Given the description of an element on the screen output the (x, y) to click on. 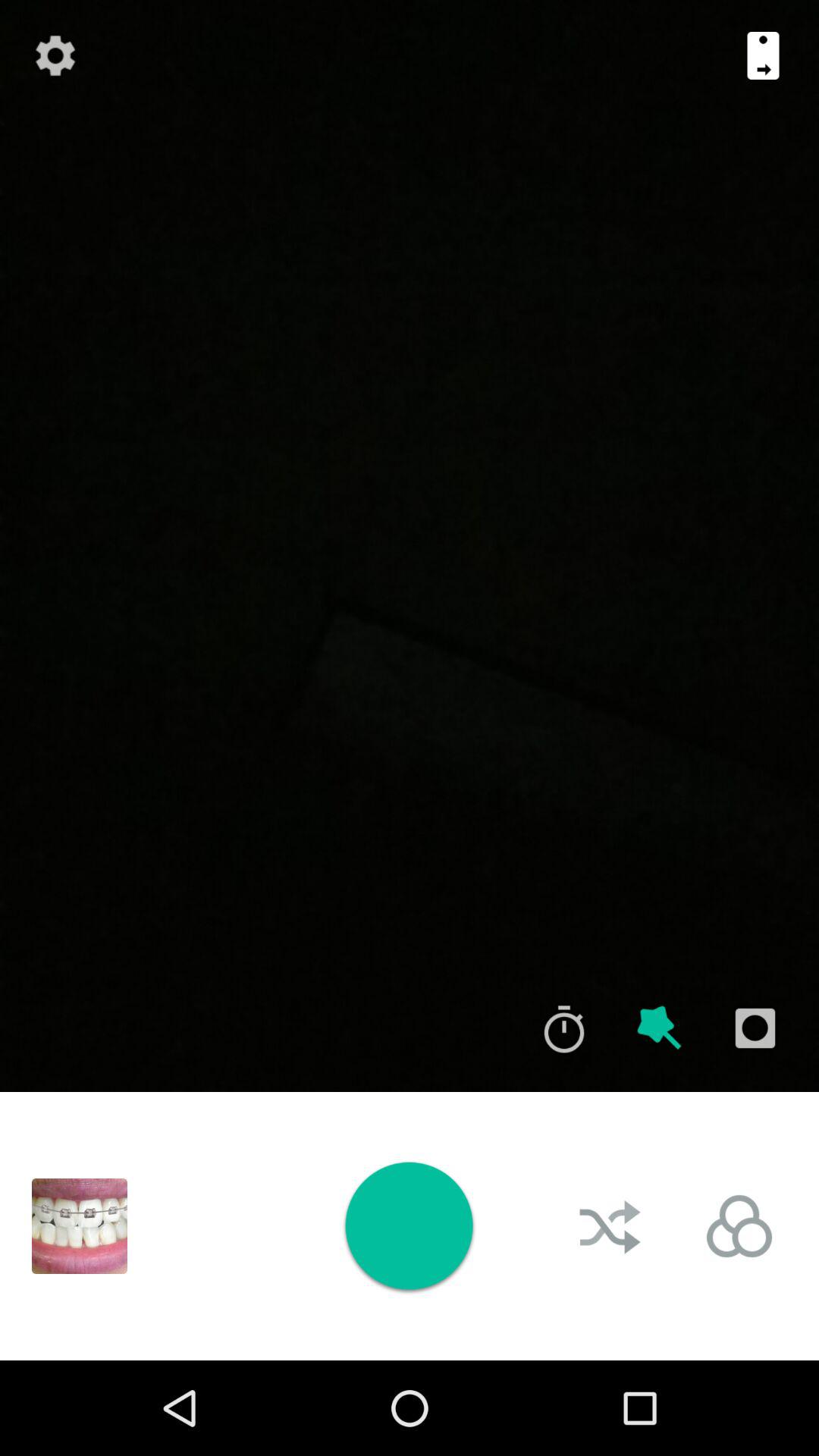
click icon at the top left corner (55, 55)
